Given the description of an element on the screen output the (x, y) to click on. 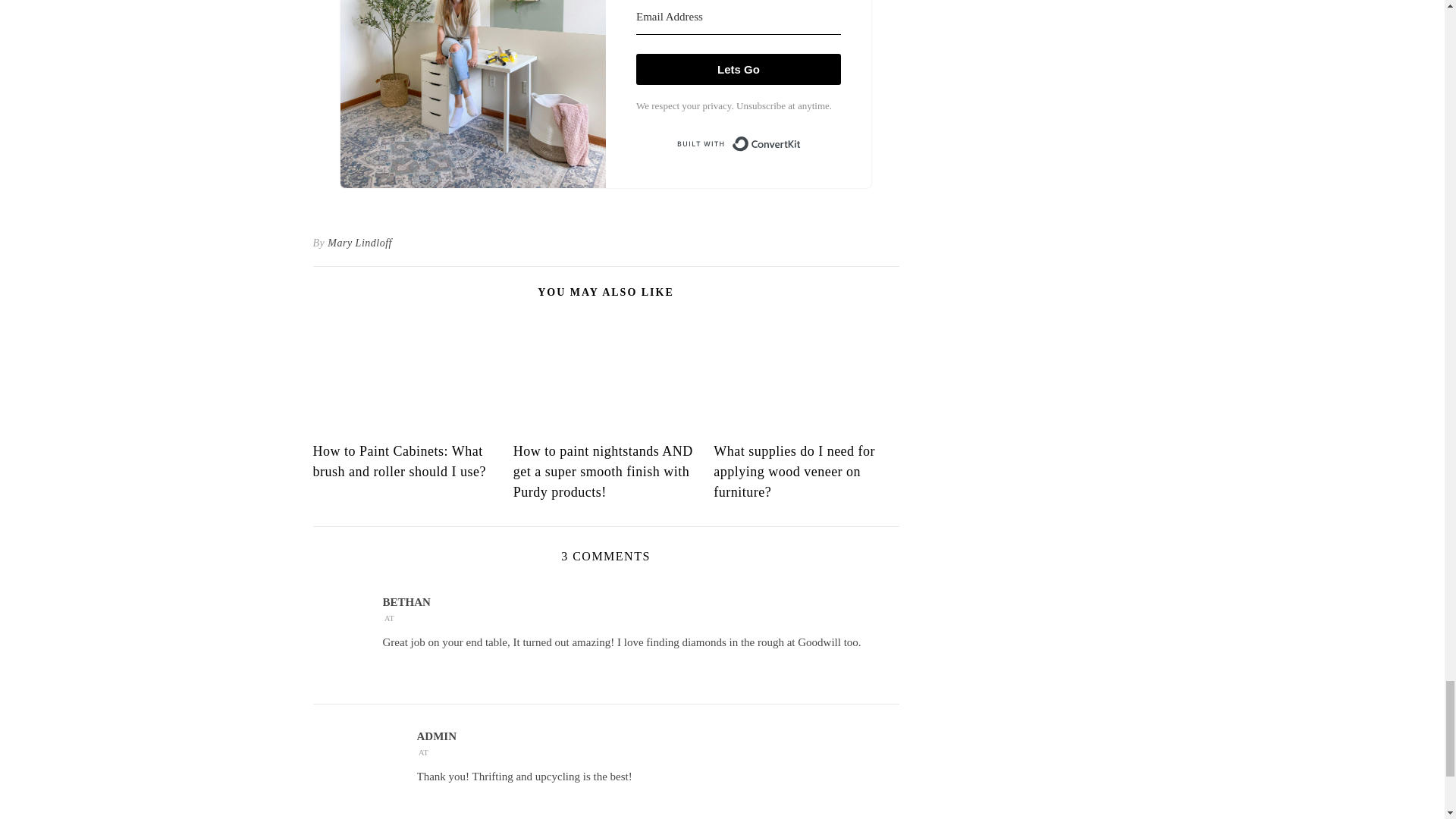
Mary Lindloff (359, 242)
 AT  (388, 617)
 AT  (423, 751)
Built with ConvertKit (738, 144)
Lets Go (738, 69)
How to Paint Cabinets: What brush and roller should I use? (398, 461)
Posts by Mary Lindloff (359, 242)
